Given the description of an element on the screen output the (x, y) to click on. 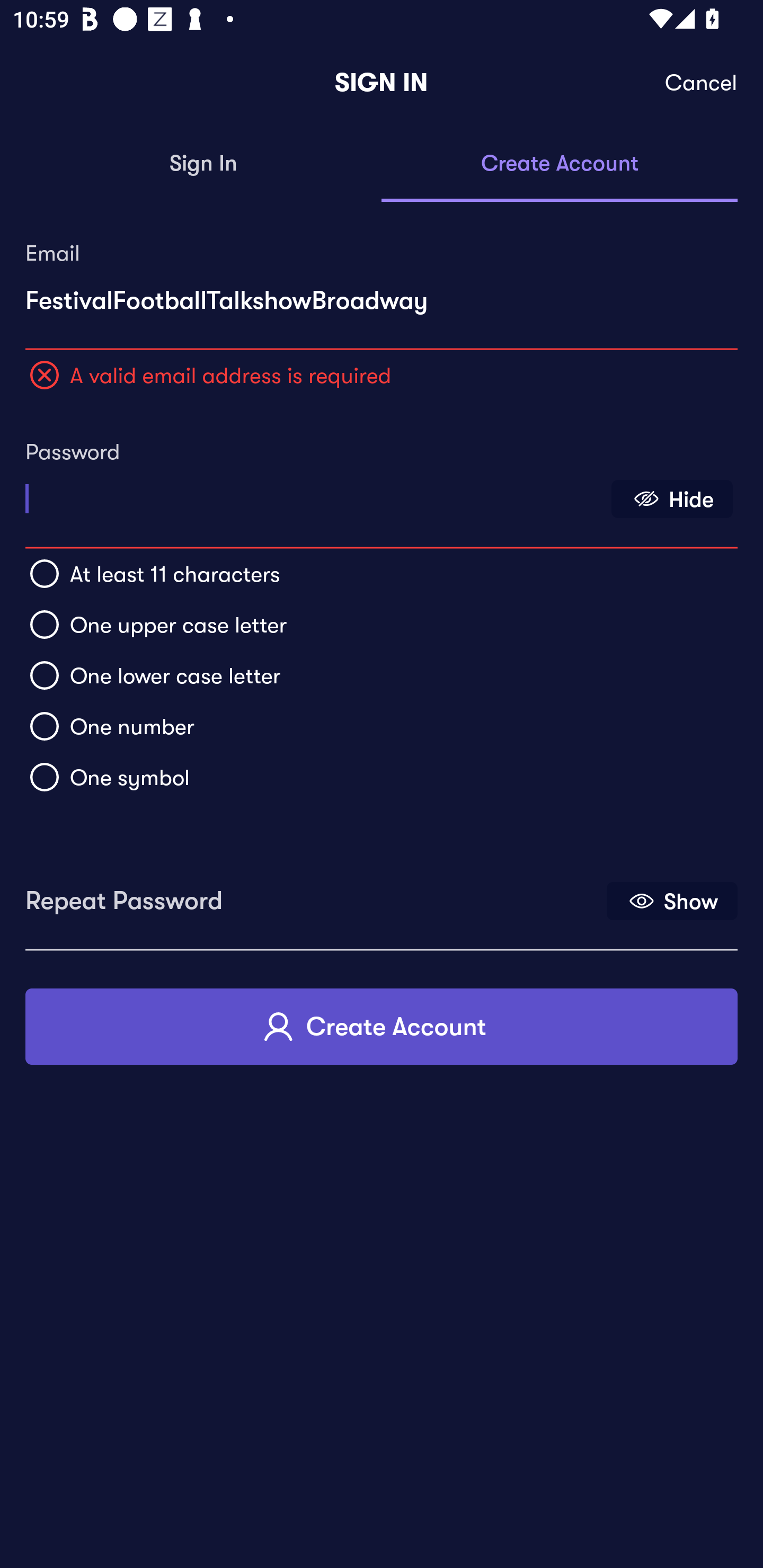
Cancel (701, 82)
Sign In (203, 164)
Create Account (559, 164)
Password, error message, At least 11 characters (314, 493)
Show Password Hide (671, 498)
Repeat Password (314, 894)
Show Repeat Password Show (671, 900)
Create Account (381, 1025)
